Given the description of an element on the screen output the (x, y) to click on. 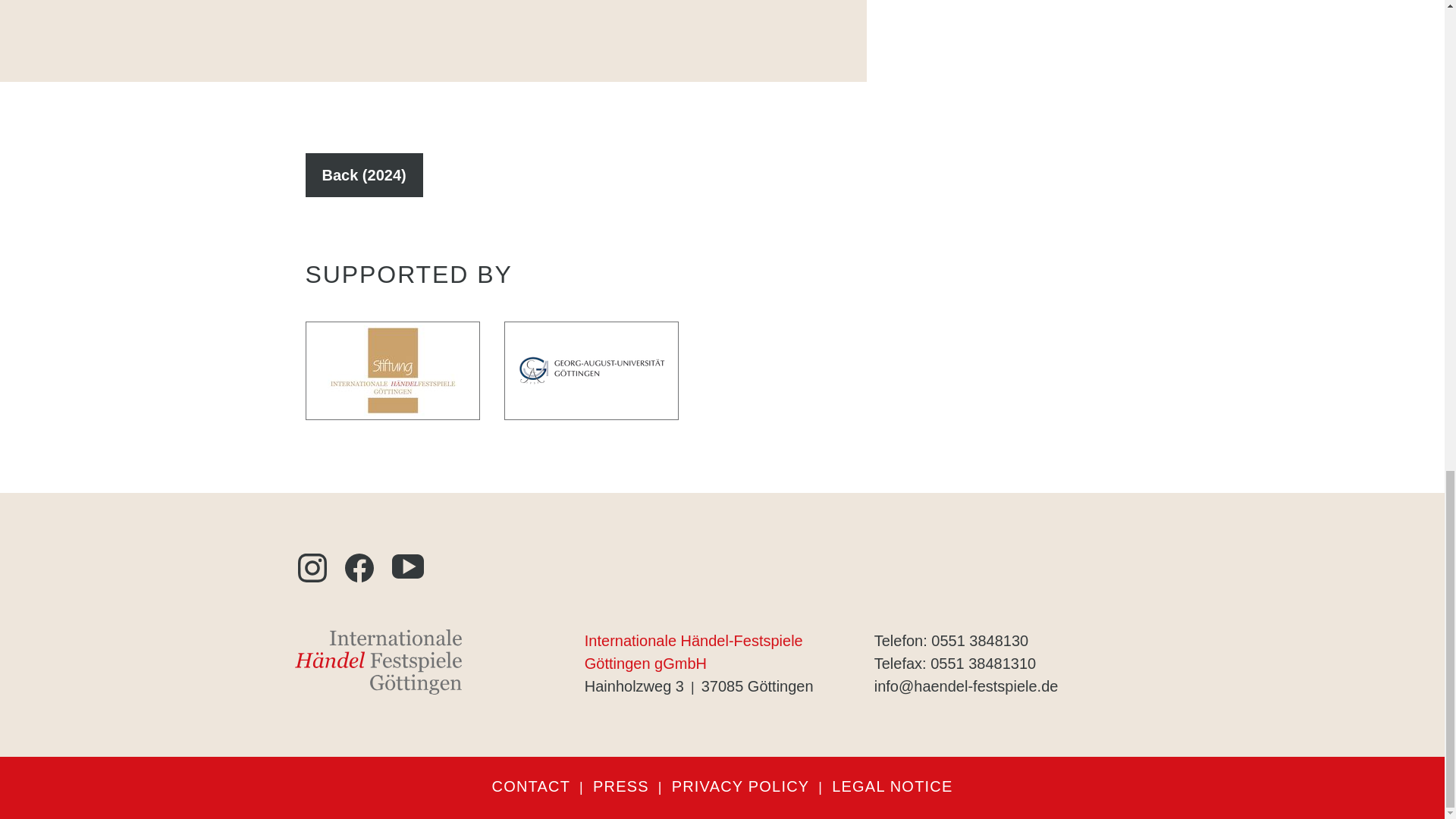
CONTACT (531, 786)
0551 38481310 (982, 663)
0551 3848130 (979, 640)
